Given the description of an element on the screen output the (x, y) to click on. 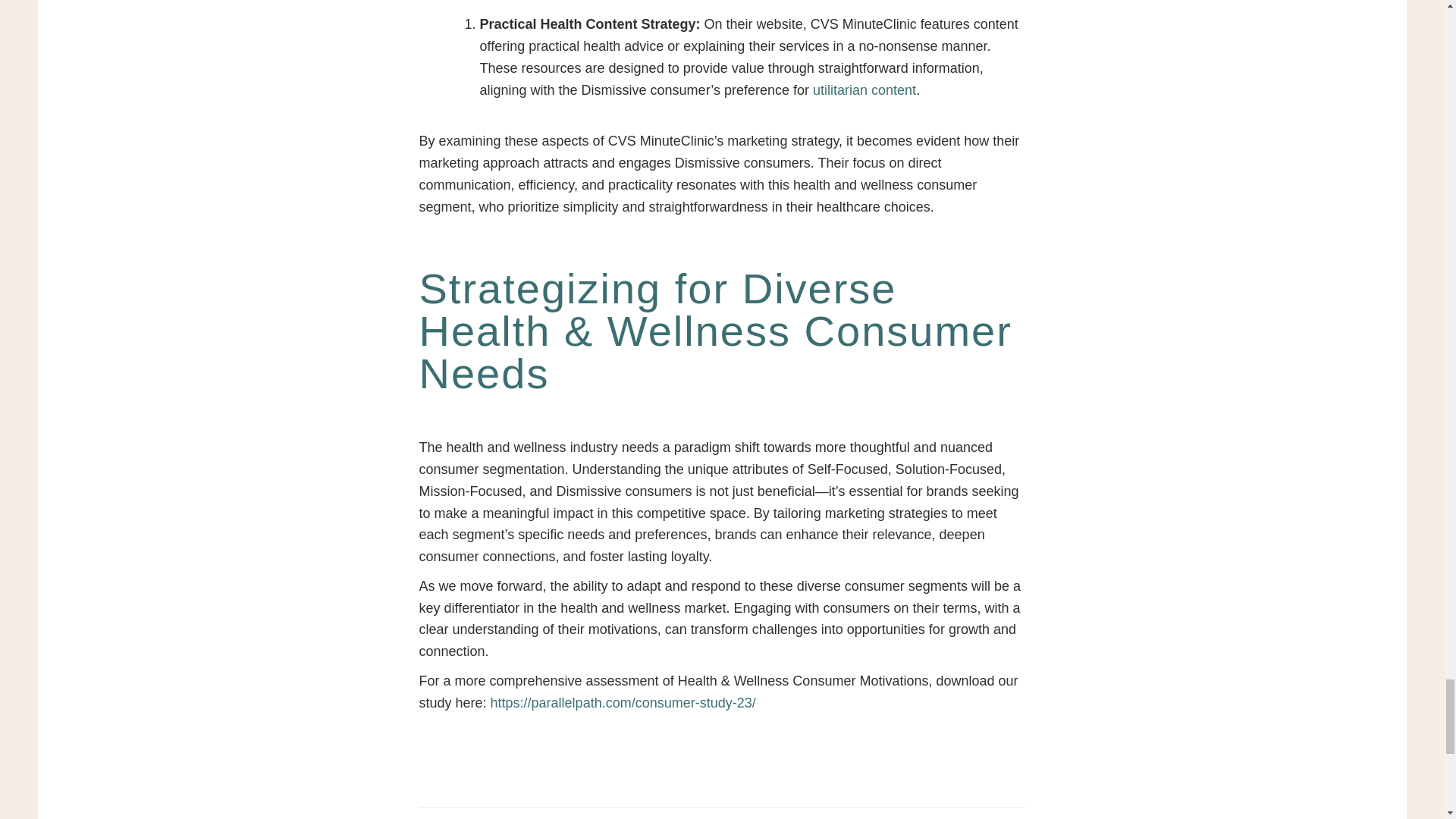
utilitarian content (863, 89)
